Given the description of an element on the screen output the (x, y) to click on. 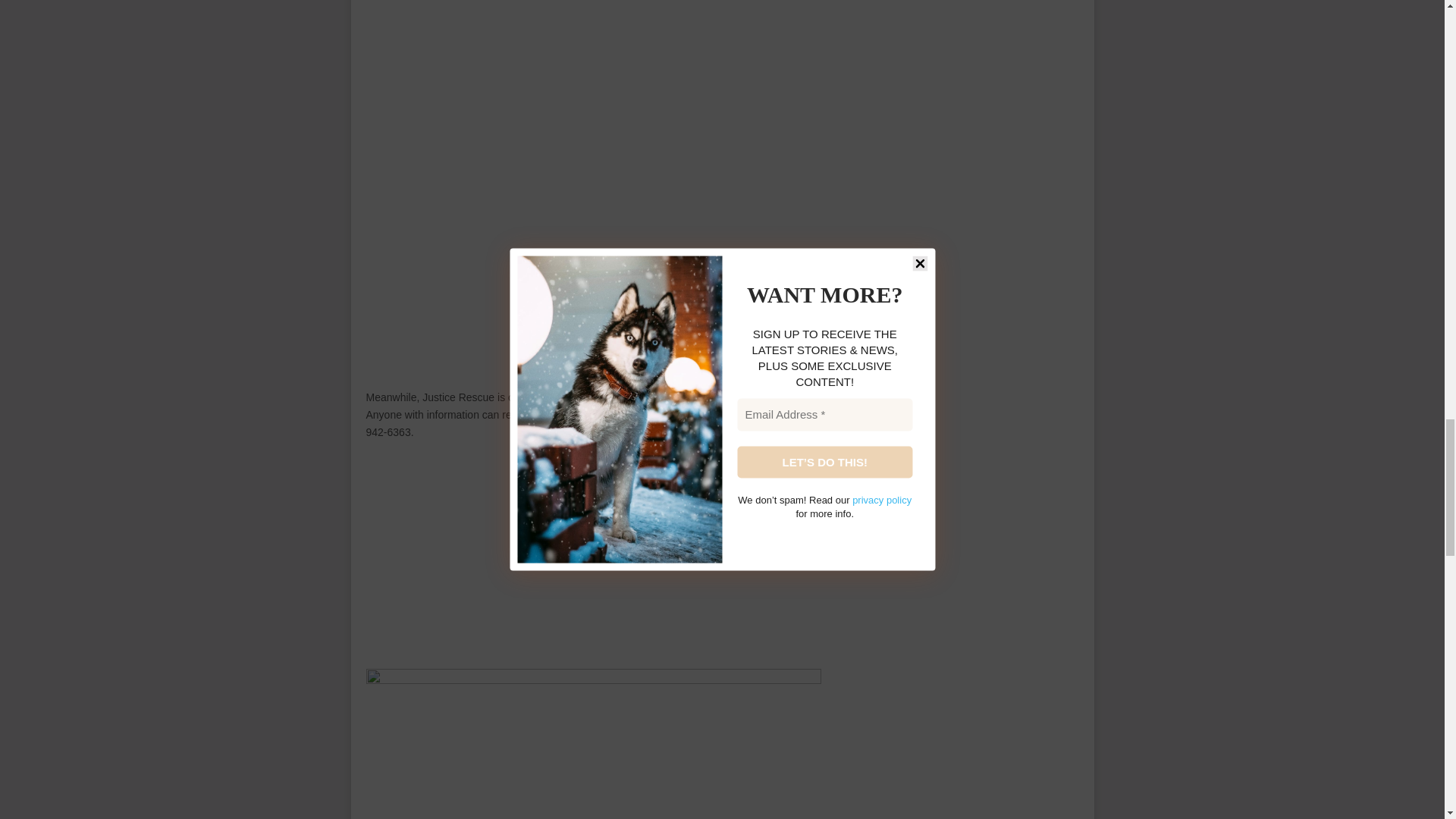
Advertisement (602, 556)
